Given the description of an element on the screen output the (x, y) to click on. 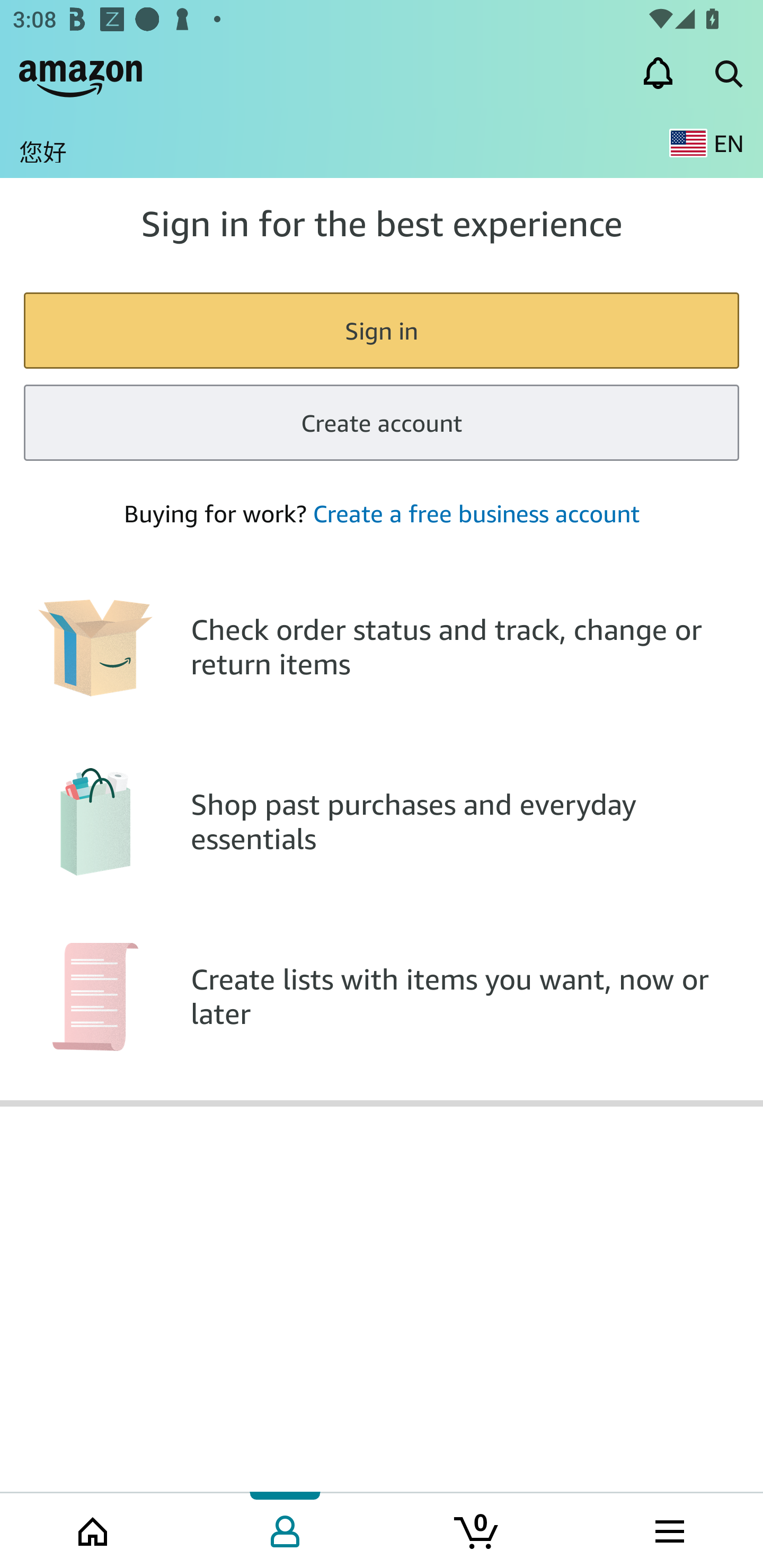
Amazon (81, 72)
Notification Hub (657, 72)
Search (727, 72)
anx_me_country_and_language EN (706, 143)
sib Sign in (381, 329)
cab Create account (381, 422)
Home Tab 1 of 4 (94, 1529)
Your Amazon.com Tab 2 of 4 (285, 1529)
Cart 0 item Tab 3 of 4 0 (477, 1529)
Browse menu Tab 4 of 4 (668, 1529)
